Given the description of an element on the screen output the (x, y) to click on. 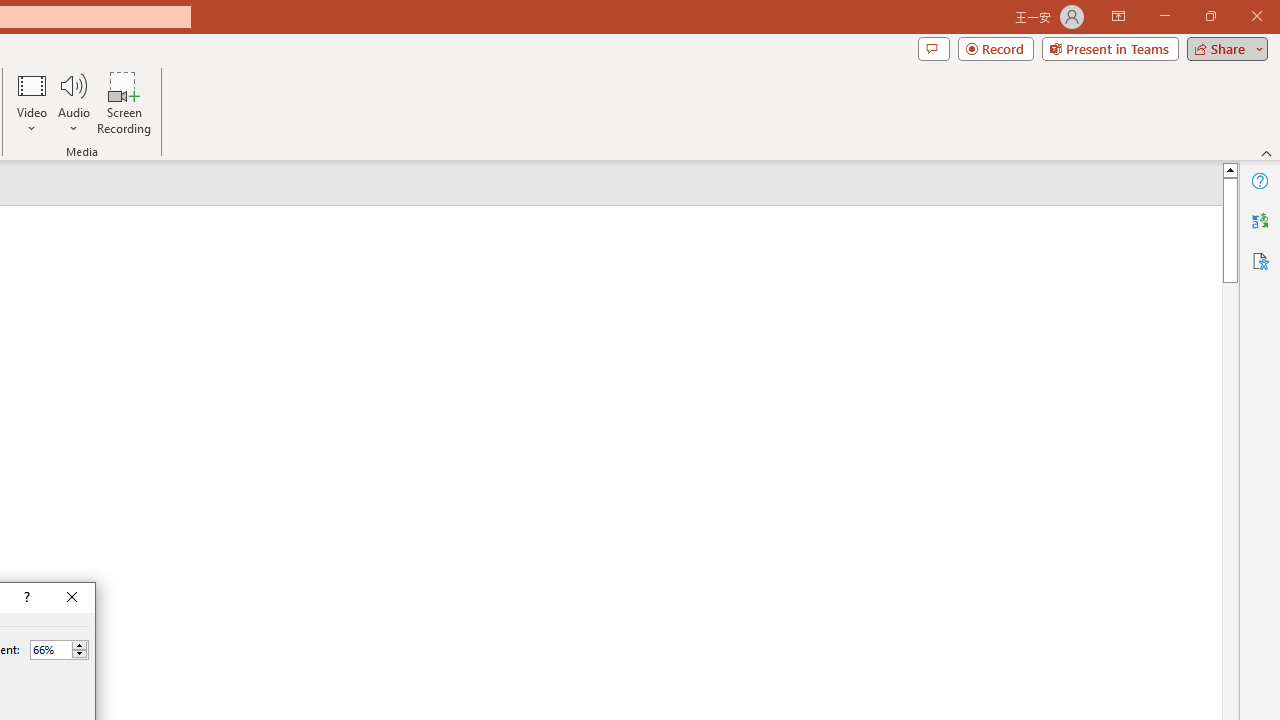
Audio (73, 102)
Translator (1260, 220)
Less (79, 654)
Video (31, 102)
Context help (25, 597)
Screen Recording... (123, 102)
More (79, 645)
